Given the description of an element on the screen output the (x, y) to click on. 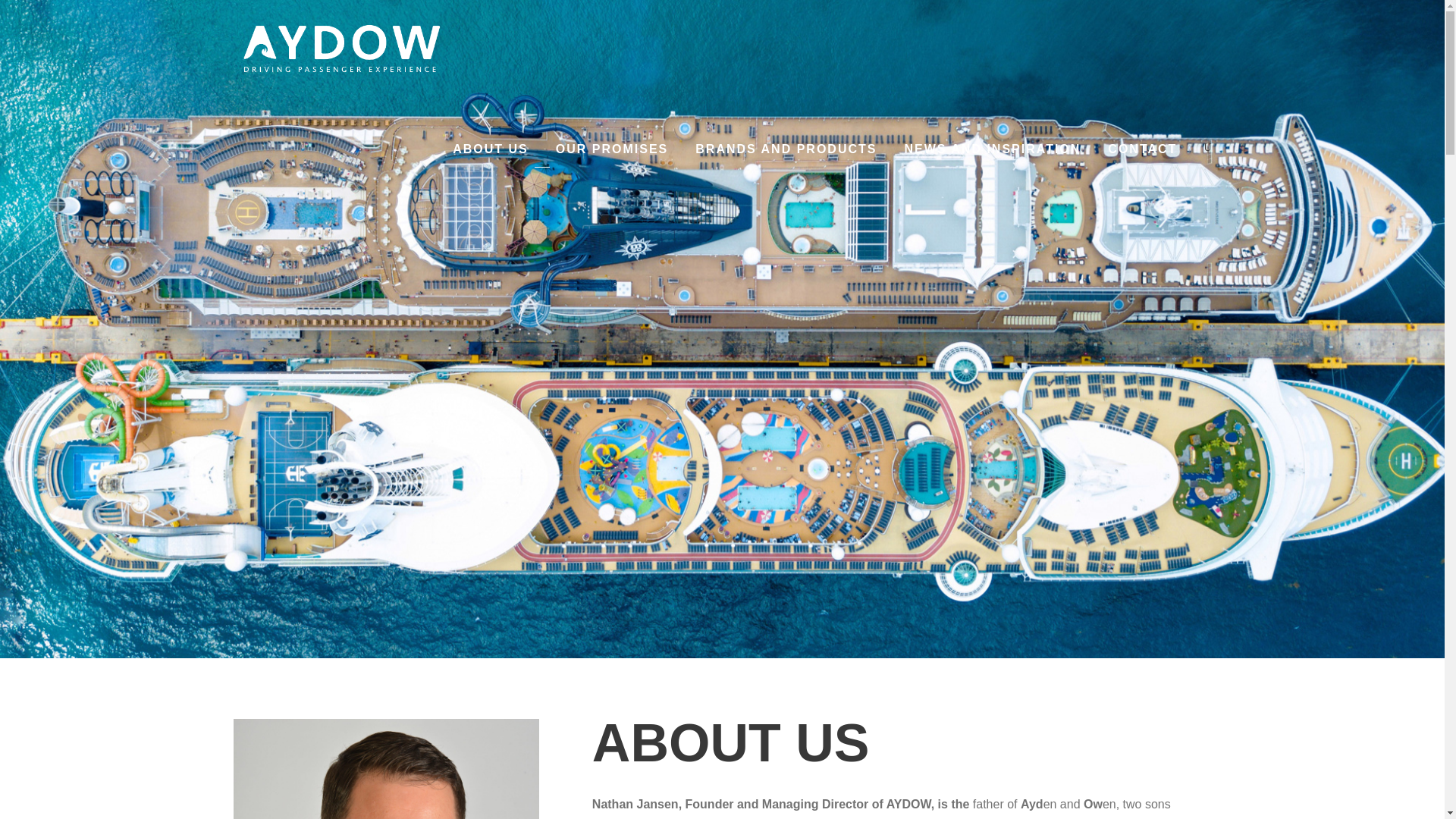
NEWS AND INSPIRATION (992, 152)
OUR PROMISES (612, 152)
aydow-logo (338, 47)
ABOUT US (490, 152)
CONTACT (1142, 152)
BRANDS AND PRODUCTS (785, 152)
